Given the description of an element on the screen output the (x, y) to click on. 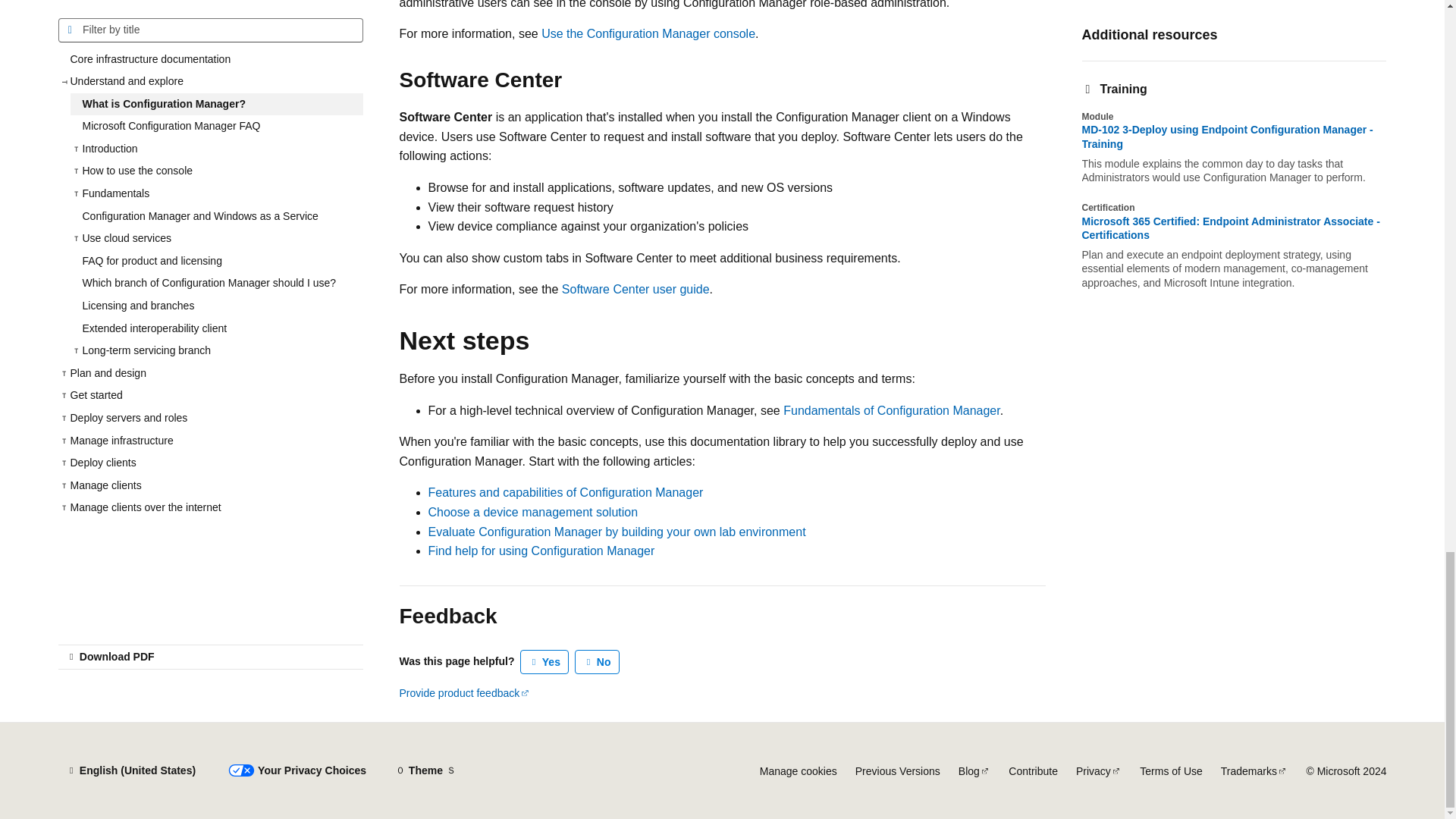
Theme (425, 770)
This article is not helpful (597, 662)
This article is helpful (544, 662)
